Given the description of an element on the screen output the (x, y) to click on. 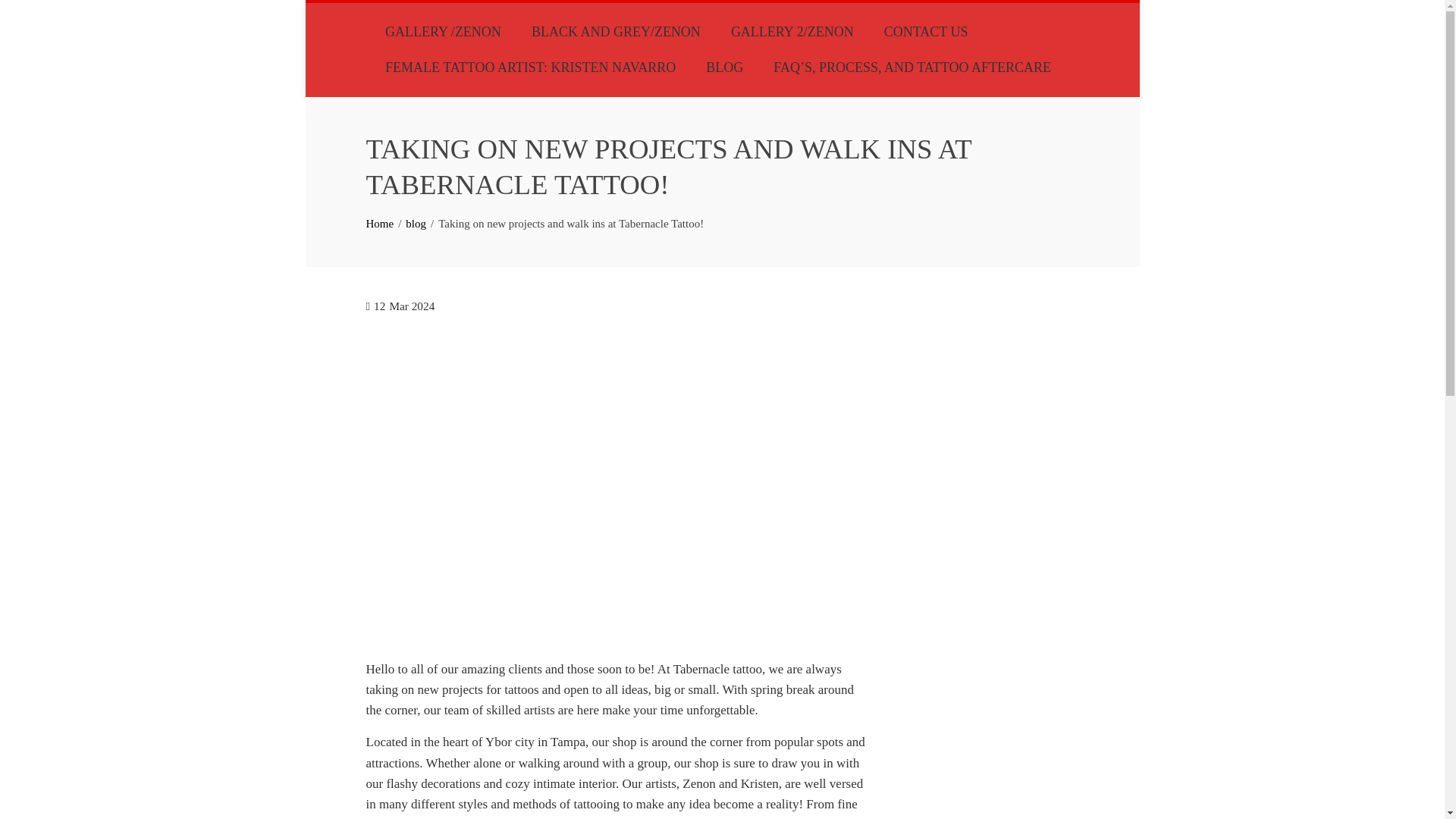
blog (416, 223)
Home (379, 223)
FEMALE TATTOO ARTIST: KRISTEN NAVARRO (530, 67)
BLOG (724, 67)
CONTACT US (925, 31)
